Given the description of an element on the screen output the (x, y) to click on. 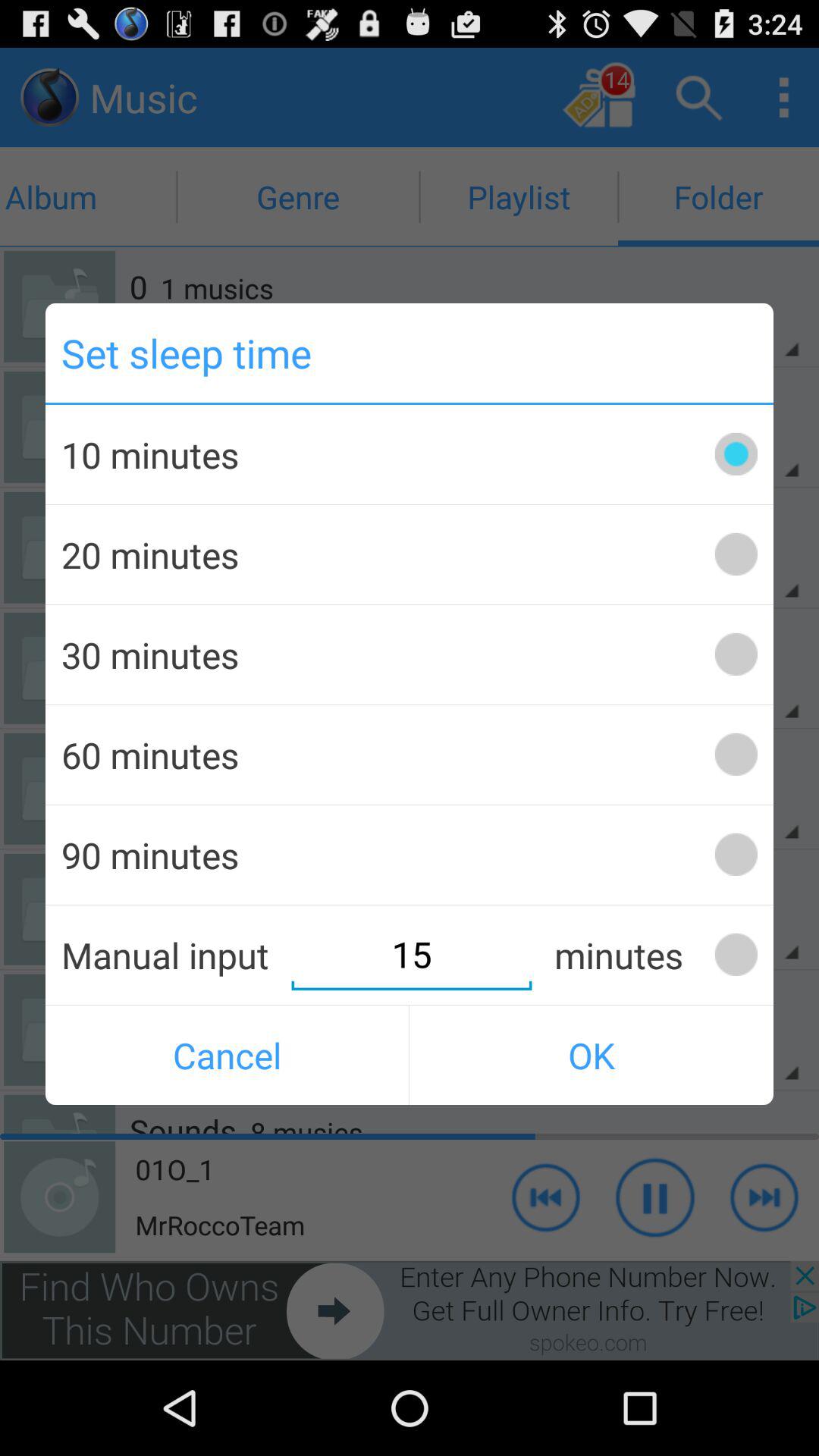
select 20 minutes sleep time (735, 554)
